Given the description of an element on the screen output the (x, y) to click on. 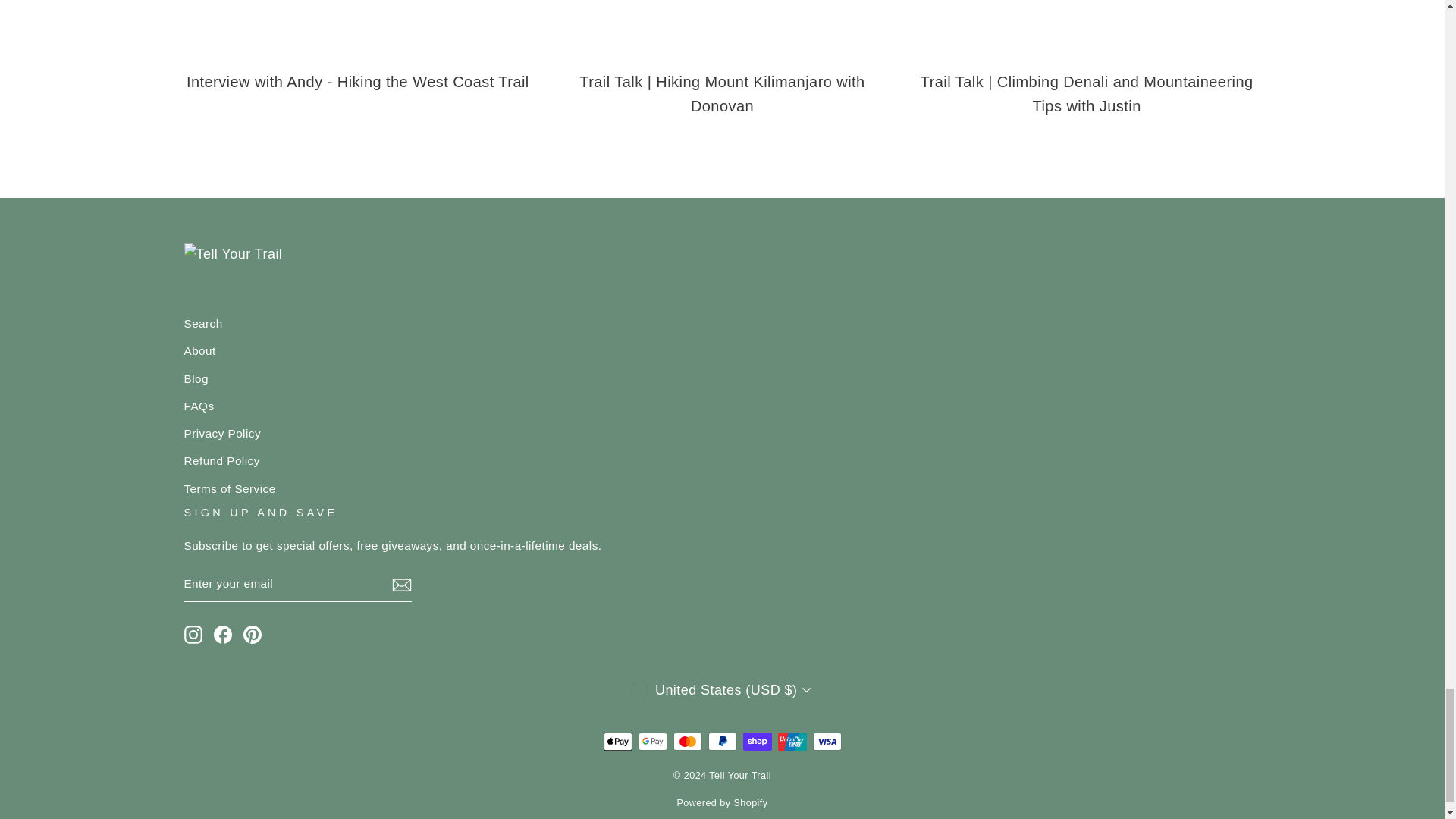
Tell Your Trail on Facebook (222, 633)
Apple Pay (617, 741)
Mastercard (686, 741)
Tell Your Trail on Instagram (192, 633)
Visa (826, 741)
Union Pay (791, 741)
PayPal (721, 741)
Google Pay (652, 741)
Shop Pay (756, 741)
Tell Your Trail on Pinterest (251, 633)
